Given the description of an element on the screen output the (x, y) to click on. 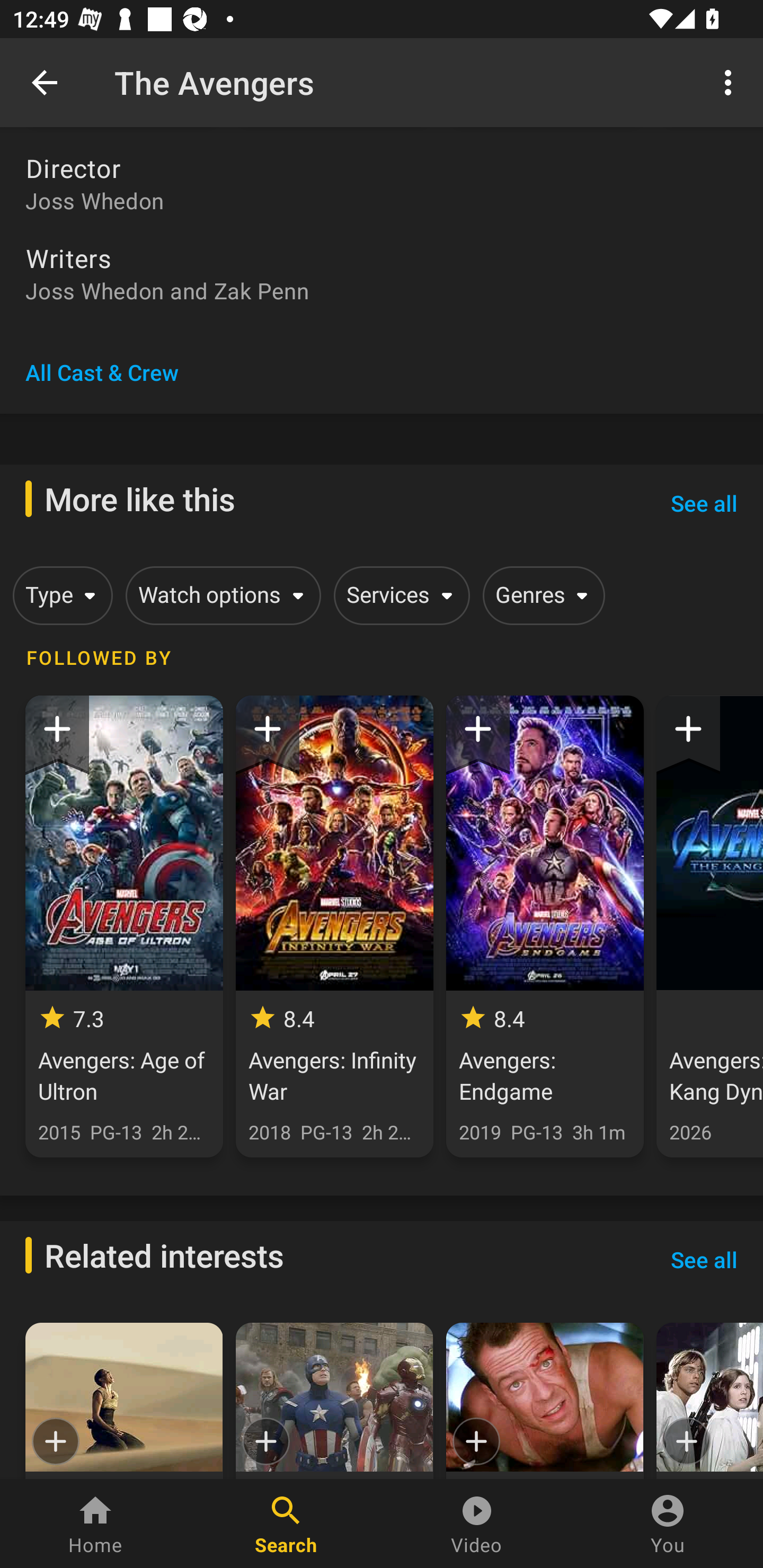
More options (731, 81)
Joss Whedon (381, 200)
Joss Whedon and Zak Penn (381, 290)
All Cast & Crew (101, 372)
See all See all More like this (703, 502)
Type (59, 595)
Watch options (219, 595)
Services (398, 595)
Genres (540, 595)
7.3 Avengers: Age of Ultron 2015  PG-13  2h 21m (123, 926)
8.4 Avengers: Infinity War 2018  PG-13  2h 29m (334, 926)
8.4 Avengers: Endgame 2019  PG-13  3h 1m (544, 926)
See all See all Related interests (703, 1259)
Action Epic (123, 1400)
Superhero (334, 1400)
Action (544, 1400)
Home (95, 1523)
Video (476, 1523)
You (667, 1523)
